Given the description of an element on the screen output the (x, y) to click on. 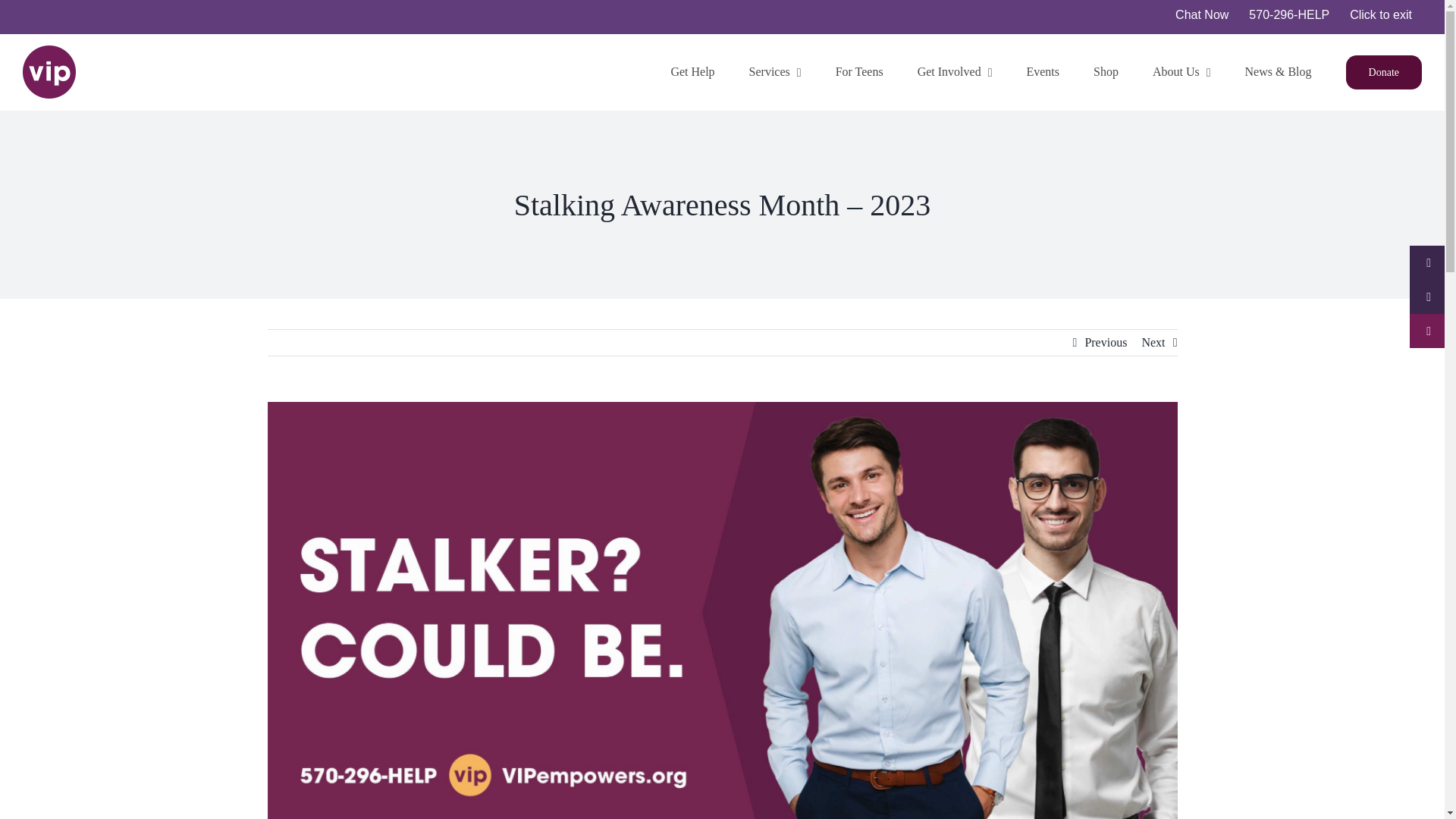
Get Involved (954, 71)
Donate (1383, 71)
Chat Now (1202, 16)
Click to exit (1380, 16)
570-296-HELP (1289, 16)
